Given the description of an element on the screen output the (x, y) to click on. 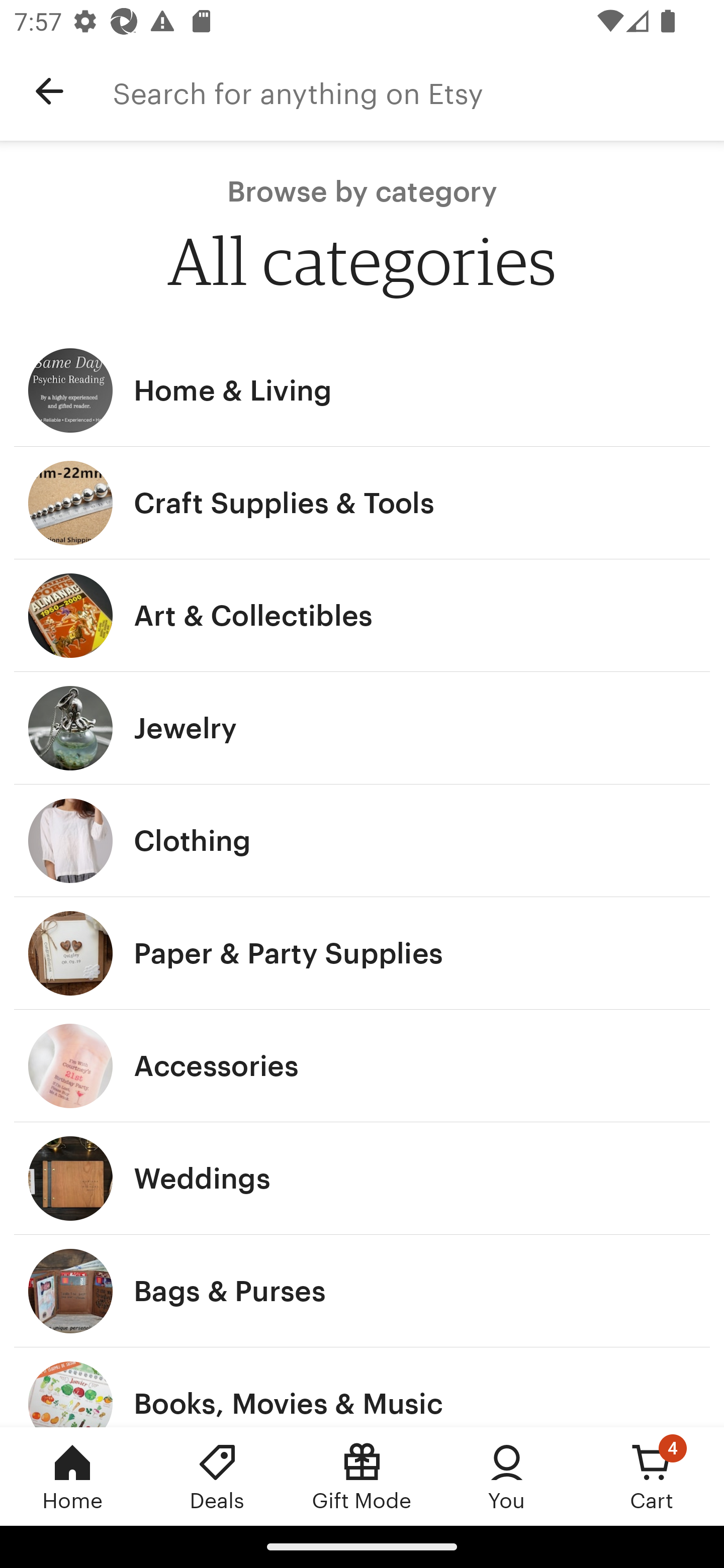
Navigate up (49, 91)
Search for anything on Etsy (418, 91)
Home & Living (361, 389)
Craft Supplies & Tools (361, 502)
Art & Collectibles (361, 615)
Jewelry (361, 728)
Clothing (361, 840)
Paper & Party Supplies (361, 952)
Accessories (361, 1065)
Weddings (361, 1178)
Bags & Purses (361, 1290)
Books, Movies & Music (361, 1386)
Deals (216, 1475)
Gift Mode (361, 1475)
You (506, 1475)
Cart, 4 new notifications Cart (651, 1475)
